Given the description of an element on the screen output the (x, y) to click on. 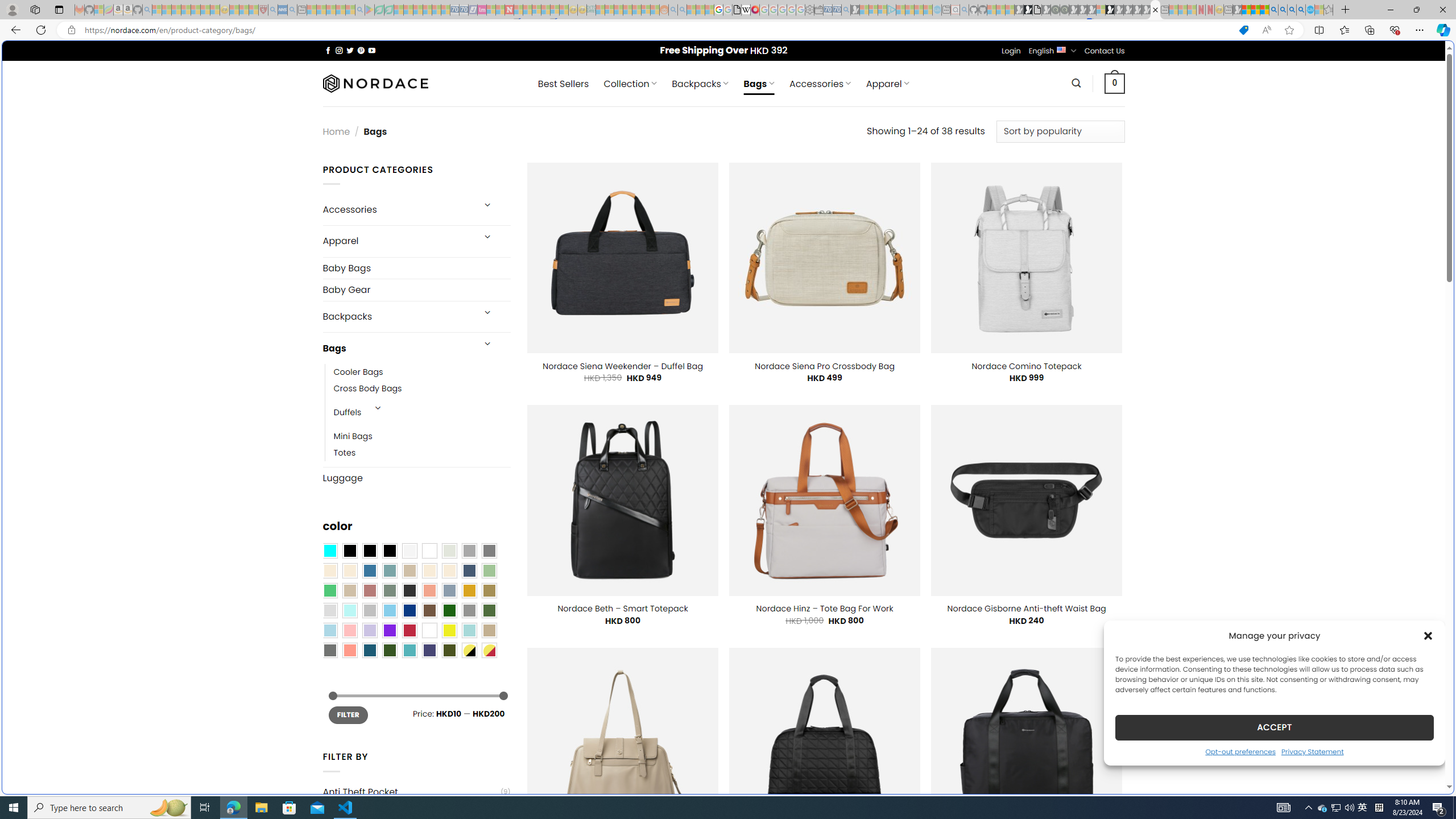
Aqua (468, 630)
Hale Navy (468, 570)
Black (369, 550)
2009 Bing officially replaced Live Search on June 3 - Search (1283, 9)
MSN - Sleeping (1236, 9)
